Given the description of an element on the screen output the (x, y) to click on. 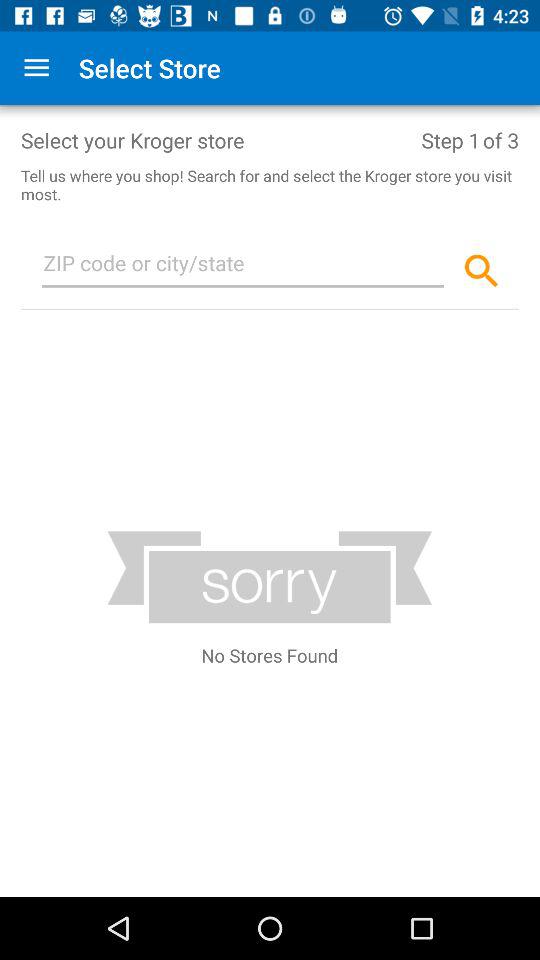
box to enter zip code for closest kroger location (243, 267)
